Given the description of an element on the screen output the (x, y) to click on. 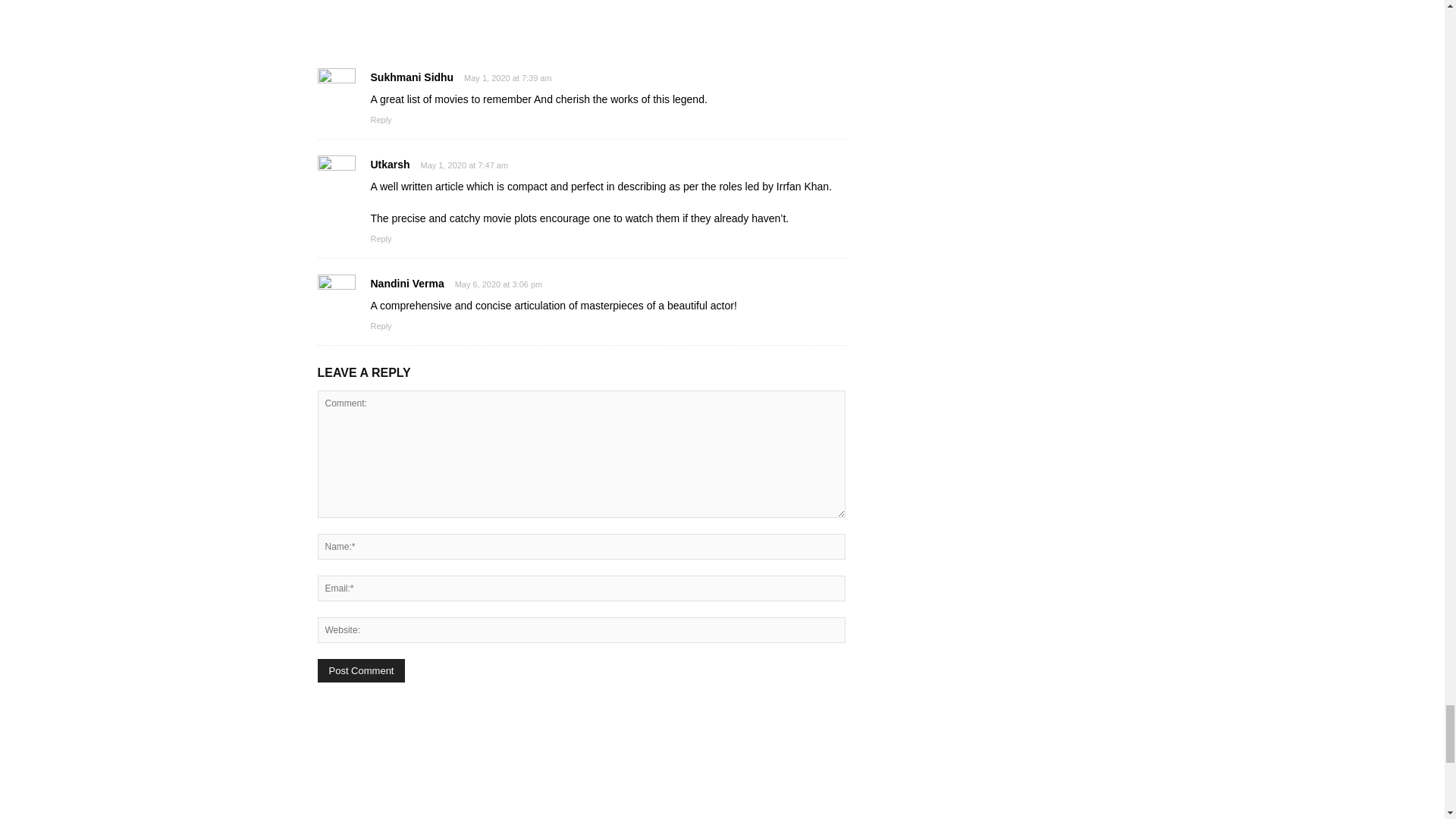
Post Comment (360, 670)
